Given the description of an element on the screen output the (x, y) to click on. 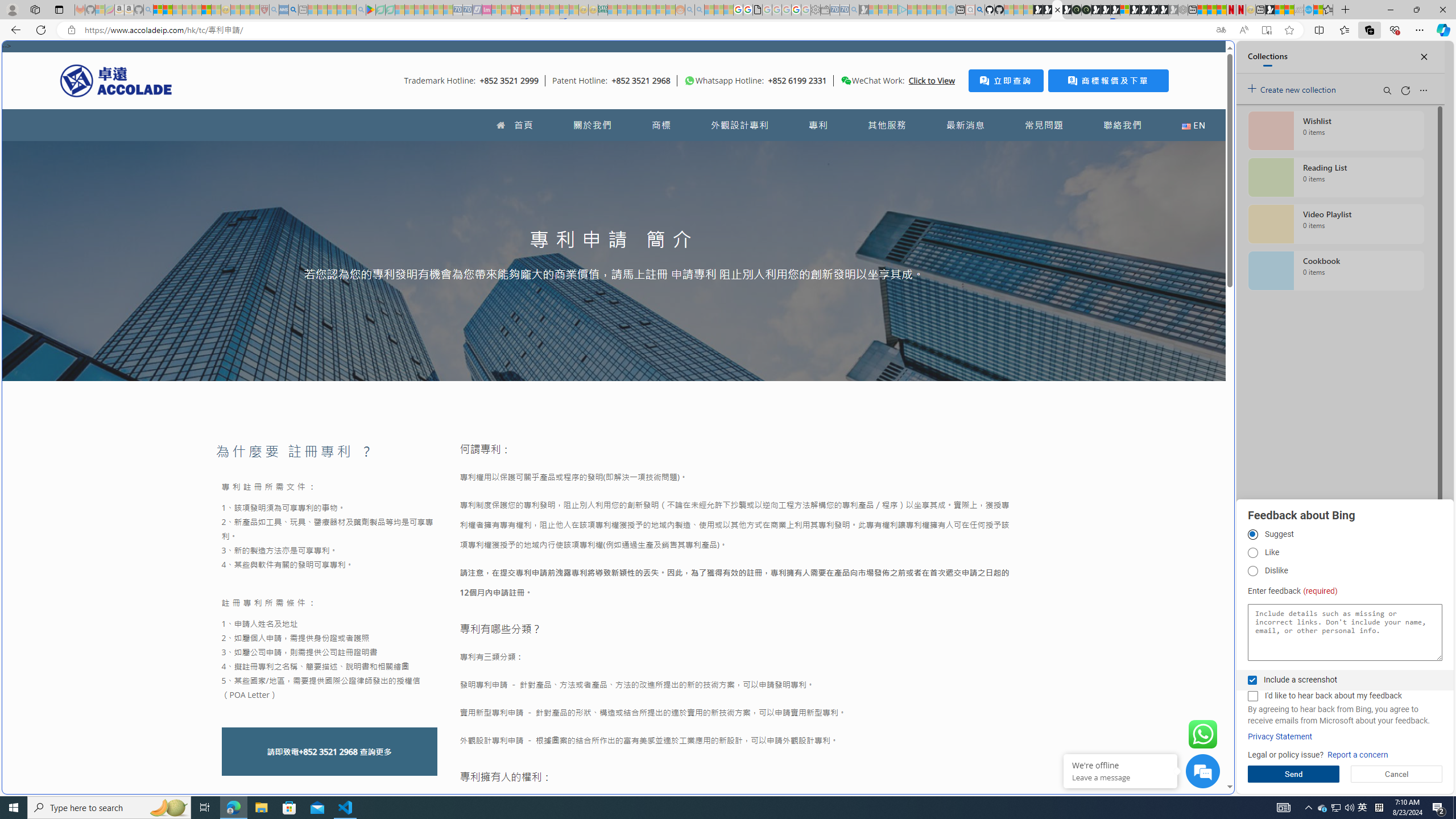
Include a screenshot (1251, 679)
github - Search (979, 9)
